Given the description of an element on the screen output the (x, y) to click on. 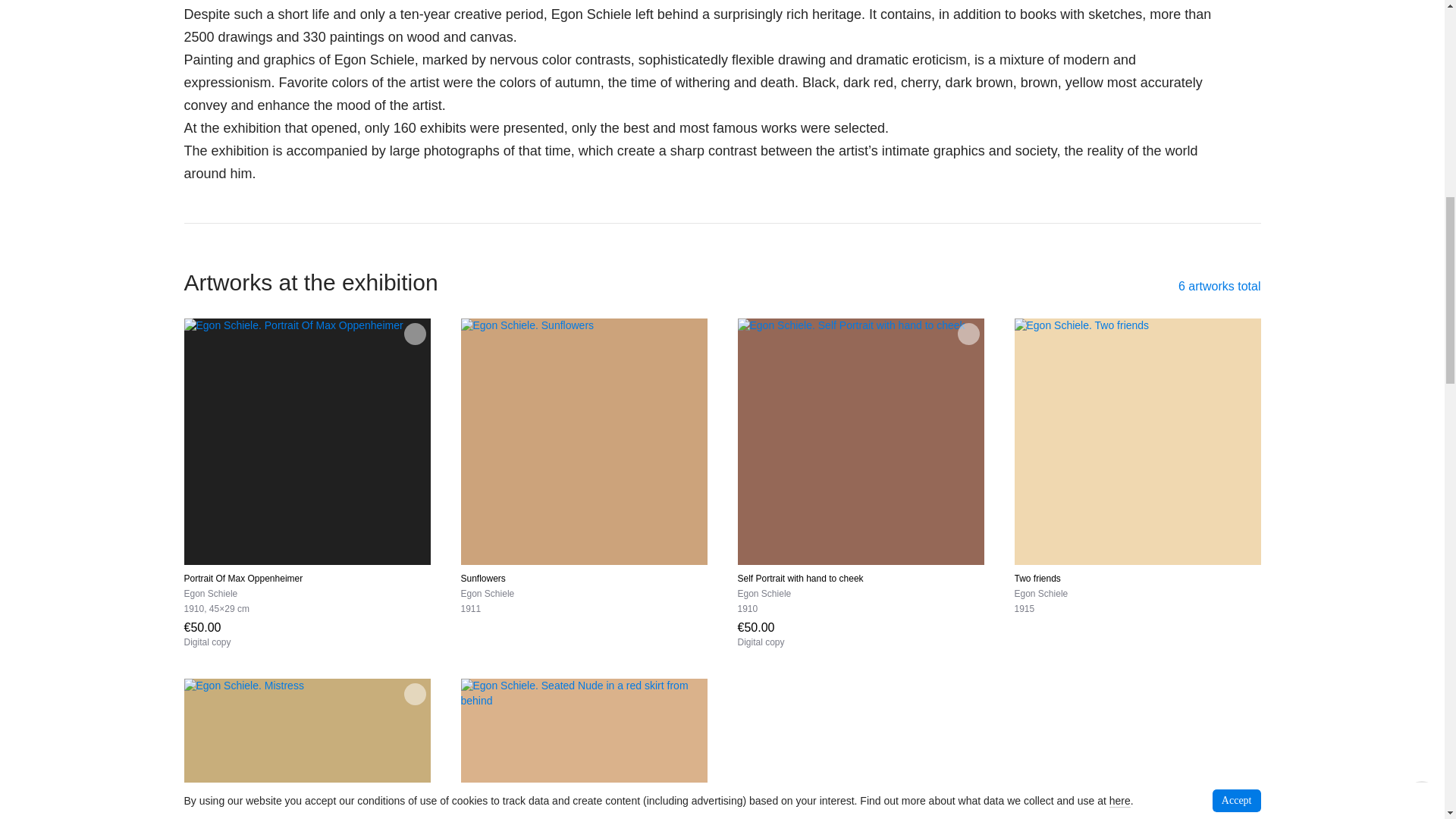
Egon Schiele. Self Portrait with hand to cheek (860, 441)
Buy digital copy (760, 633)
Buy digital copy (206, 633)
Egon Schiele. Sunflowers (584, 441)
Egon Schiele. Two friends (1137, 441)
Egon Schiele. Portrait Of Max Oppenheimer (306, 441)
